Given the description of an element on the screen output the (x, y) to click on. 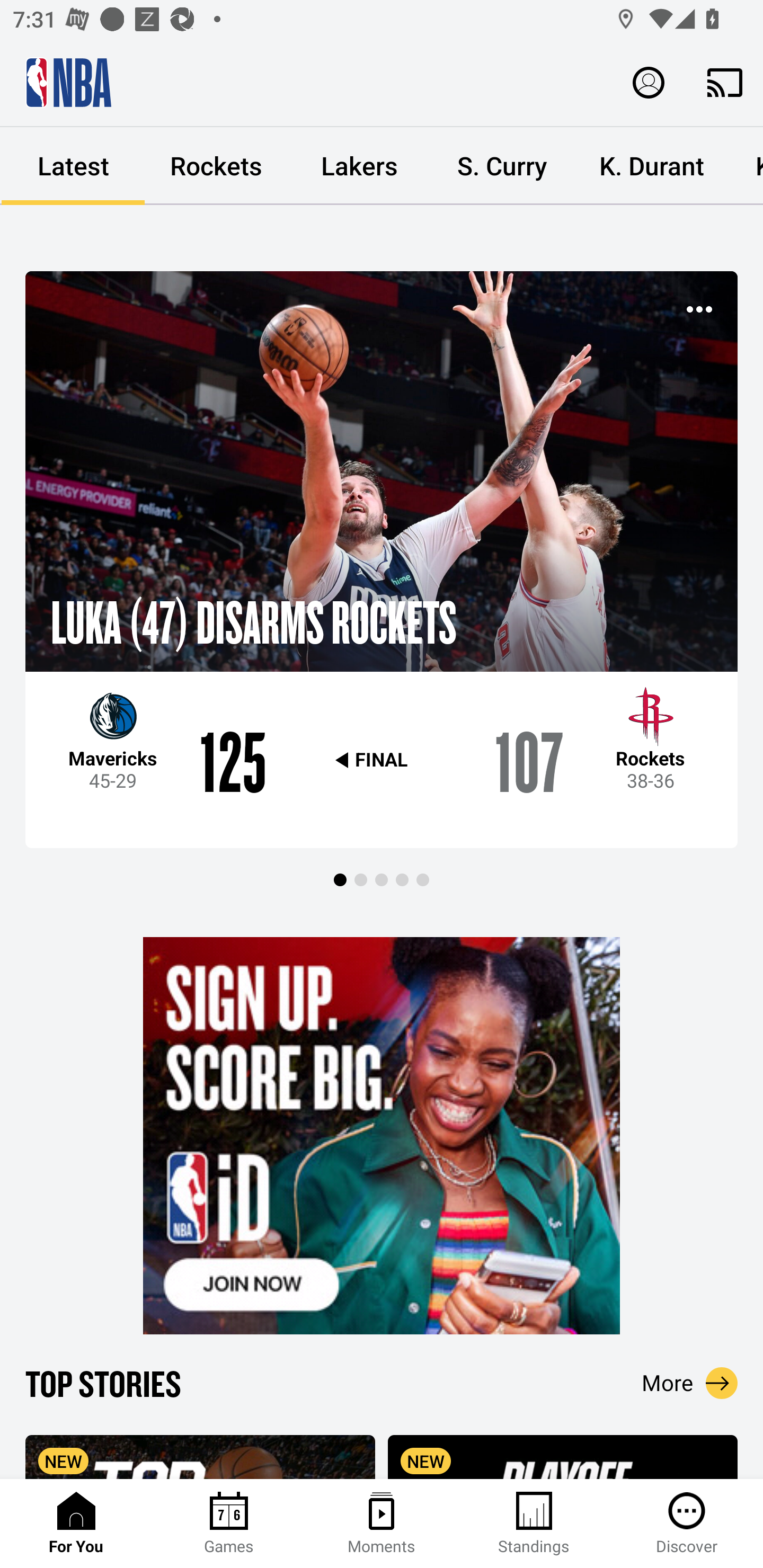
Cast. Disconnected (724, 82)
Profile (648, 81)
Rockets (215, 166)
Lakers (359, 166)
S. Curry (502, 166)
K. Durant (651, 166)
More (689, 1382)
Games (228, 1523)
Moments (381, 1523)
Standings (533, 1523)
Discover (686, 1523)
